Given the description of an element on the screen output the (x, y) to click on. 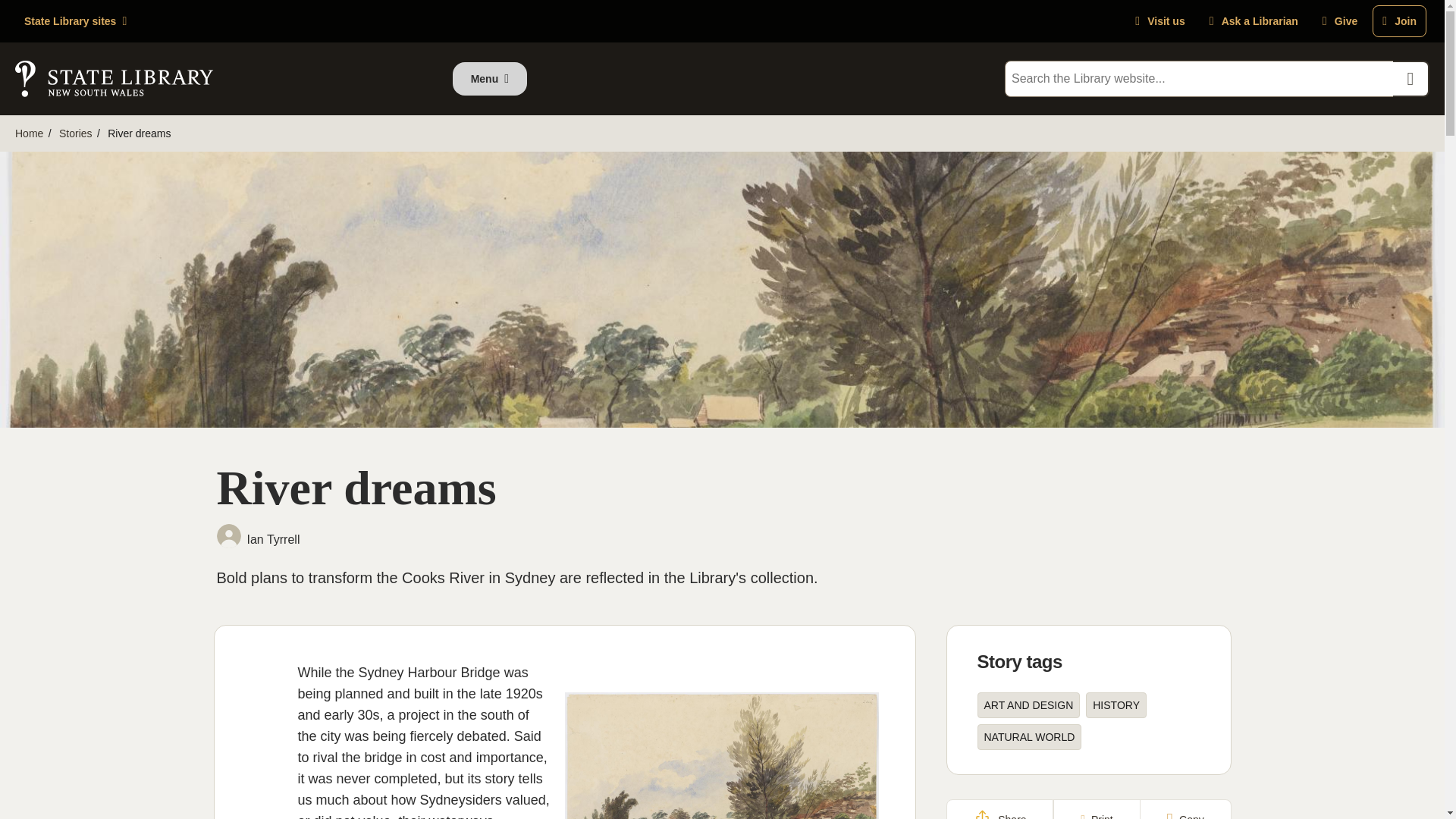
Visit us (1159, 20)
Give (1340, 20)
Menu (489, 78)
Ask a Librarian (1253, 20)
State Library sites (74, 21)
Join (1399, 20)
